Given the description of an element on the screen output the (x, y) to click on. 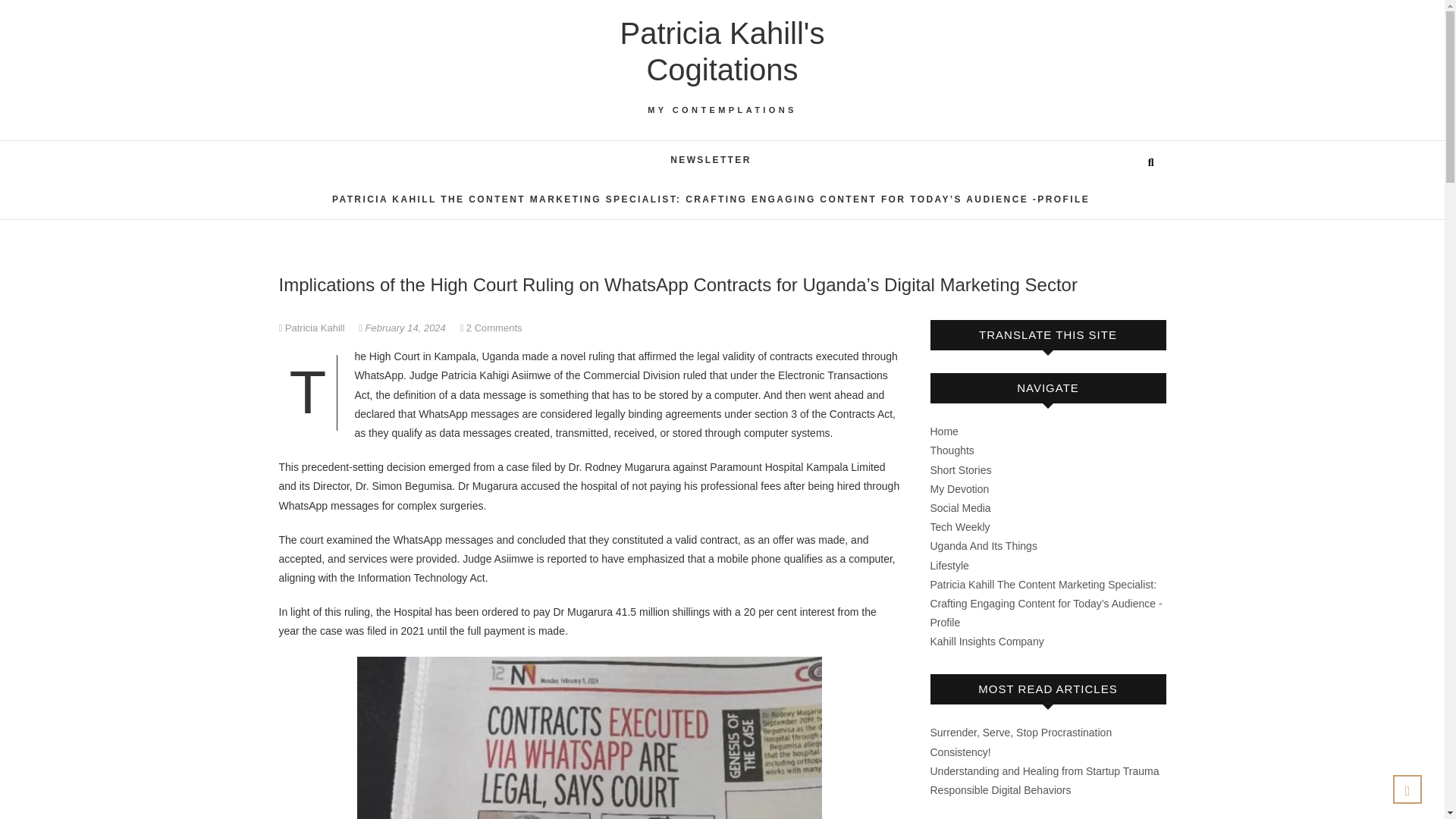
11:12 am (403, 327)
February 14, 2024 (403, 327)
Patricia Kahill's Cogitations (721, 51)
NEWSLETTER (710, 160)
Patricia Kahill (313, 327)
Patricia Kahill's Cogitations (721, 51)
2 Comments (493, 327)
